Given the description of an element on the screen output the (x, y) to click on. 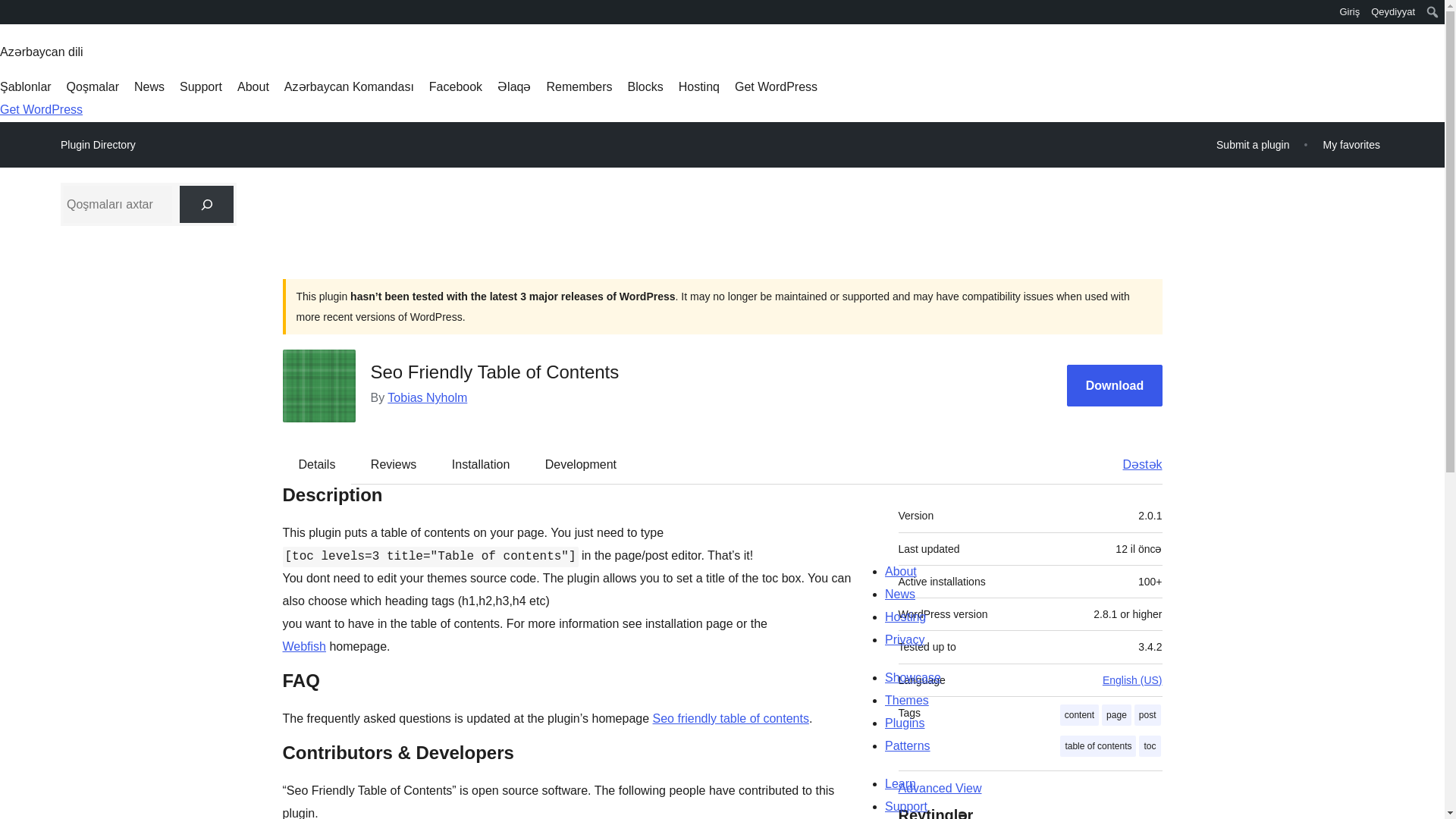
Reviews (392, 464)
Submit a plugin (1253, 144)
My favorites (1351, 144)
Qeydiyyat (1393, 12)
Blocks (645, 87)
Webfish - WordPress plugin (730, 717)
Download (1114, 385)
Get WordPress (41, 109)
Webfish - WordPress plugin (304, 645)
Plugin Directory (97, 144)
Tobias Nyholm (427, 397)
Details (316, 464)
Hostinq (698, 87)
About (253, 87)
Facebook (455, 87)
